Given the description of an element on the screen output the (x, y) to click on. 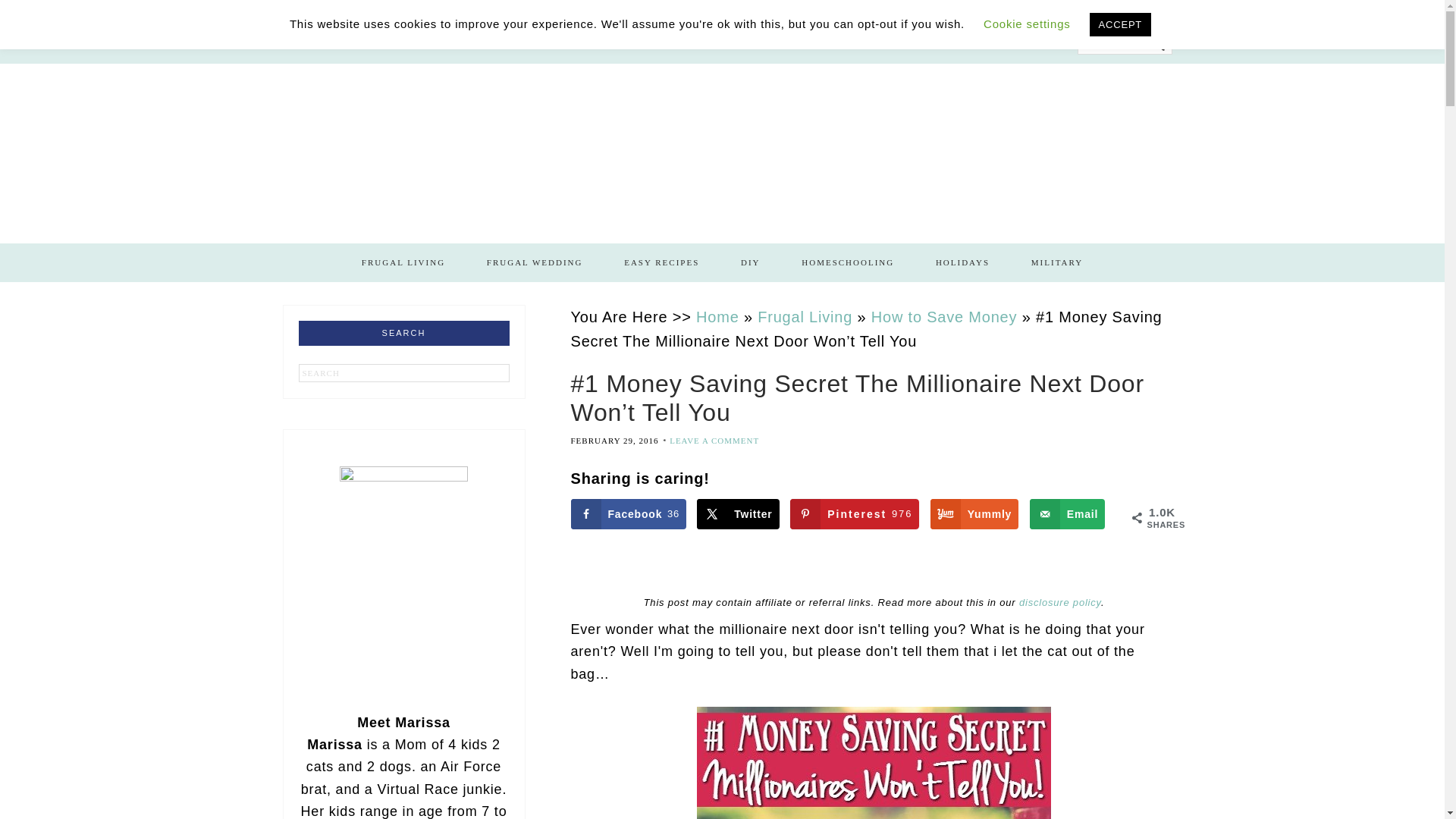
CONTACT (739, 43)
How to Save Money (943, 315)
Our Roaming Hearts (620, 43)
DIY (750, 261)
HOLIDAYS (963, 261)
contact the frugal navy wife (739, 43)
FRUGAL WEDDING (534, 261)
Frugal Living (403, 261)
Frugal holidays (963, 261)
the frugal navy wife store (326, 43)
SHOP OUR STORE (854, 513)
homeschooling tips (326, 43)
MILITARY (847, 261)
Share on X (1056, 261)
